Given the description of an element on the screen output the (x, y) to click on. 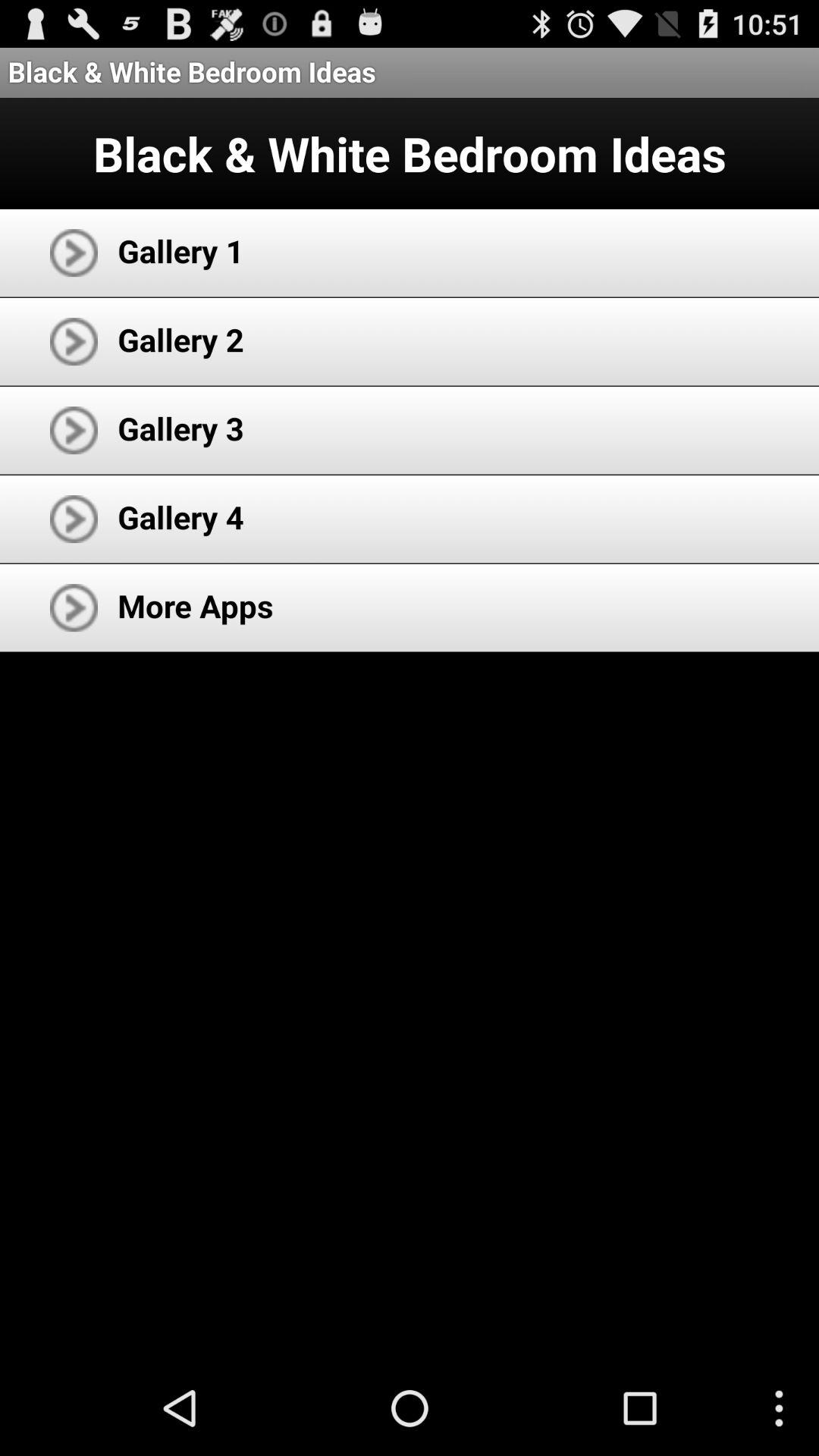
select gallery 4 item (180, 516)
